Given the description of an element on the screen output the (x, y) to click on. 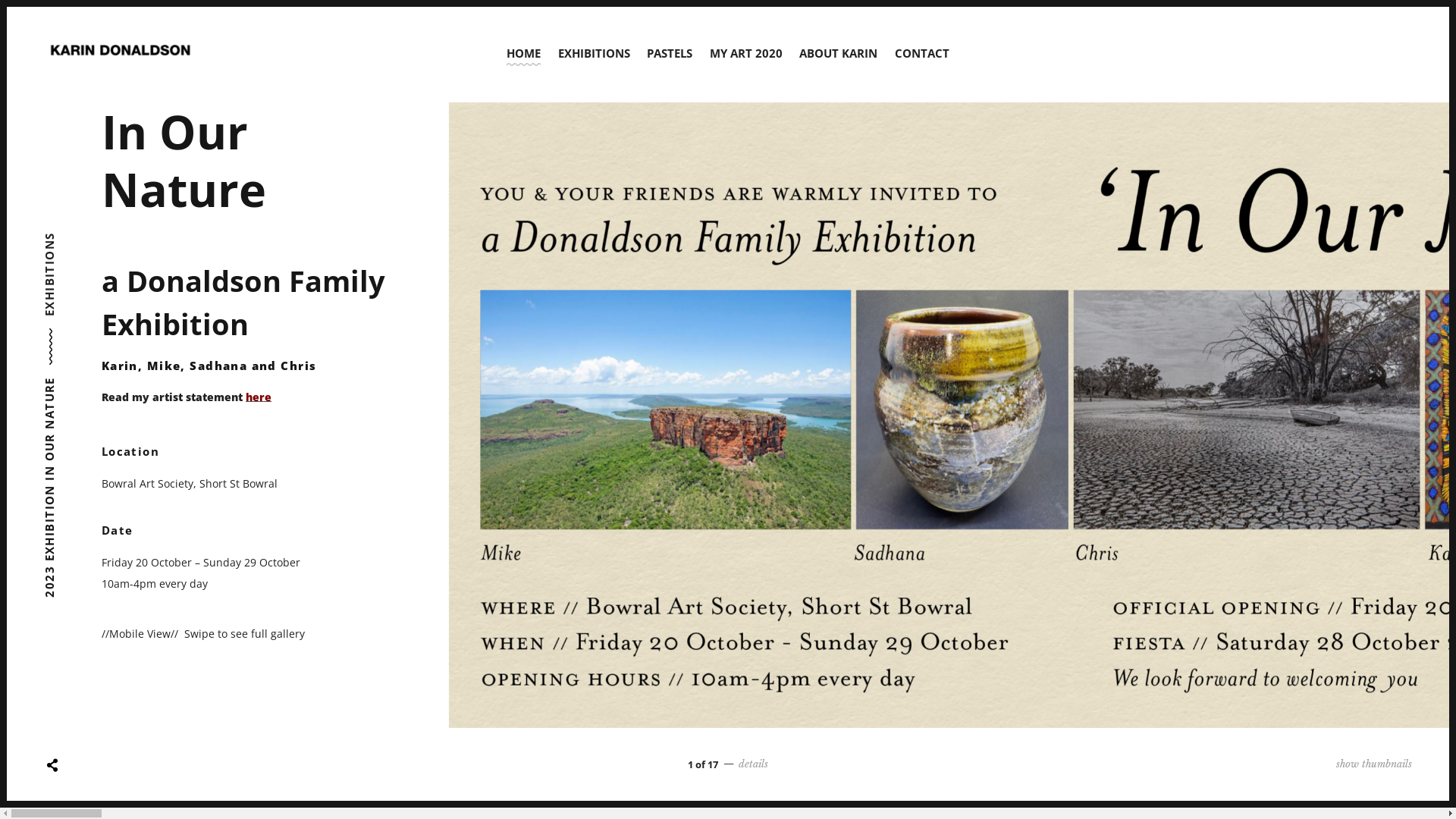
CONTACT Element type: text (921, 53)
MY ART 2020 Element type: text (745, 53)
ABOUT KARIN Element type: text (838, 53)
PASTELS Element type: text (669, 53)
EXHIBITIONS Element type: text (83, 239)
here Element type: text (258, 396)
HOME Element type: text (523, 53)
show thumbnails Element type: text (1340, 764)
EXHIBITIONS Element type: text (593, 53)
details Element type: text (743, 763)
